Given the description of an element on the screen output the (x, y) to click on. 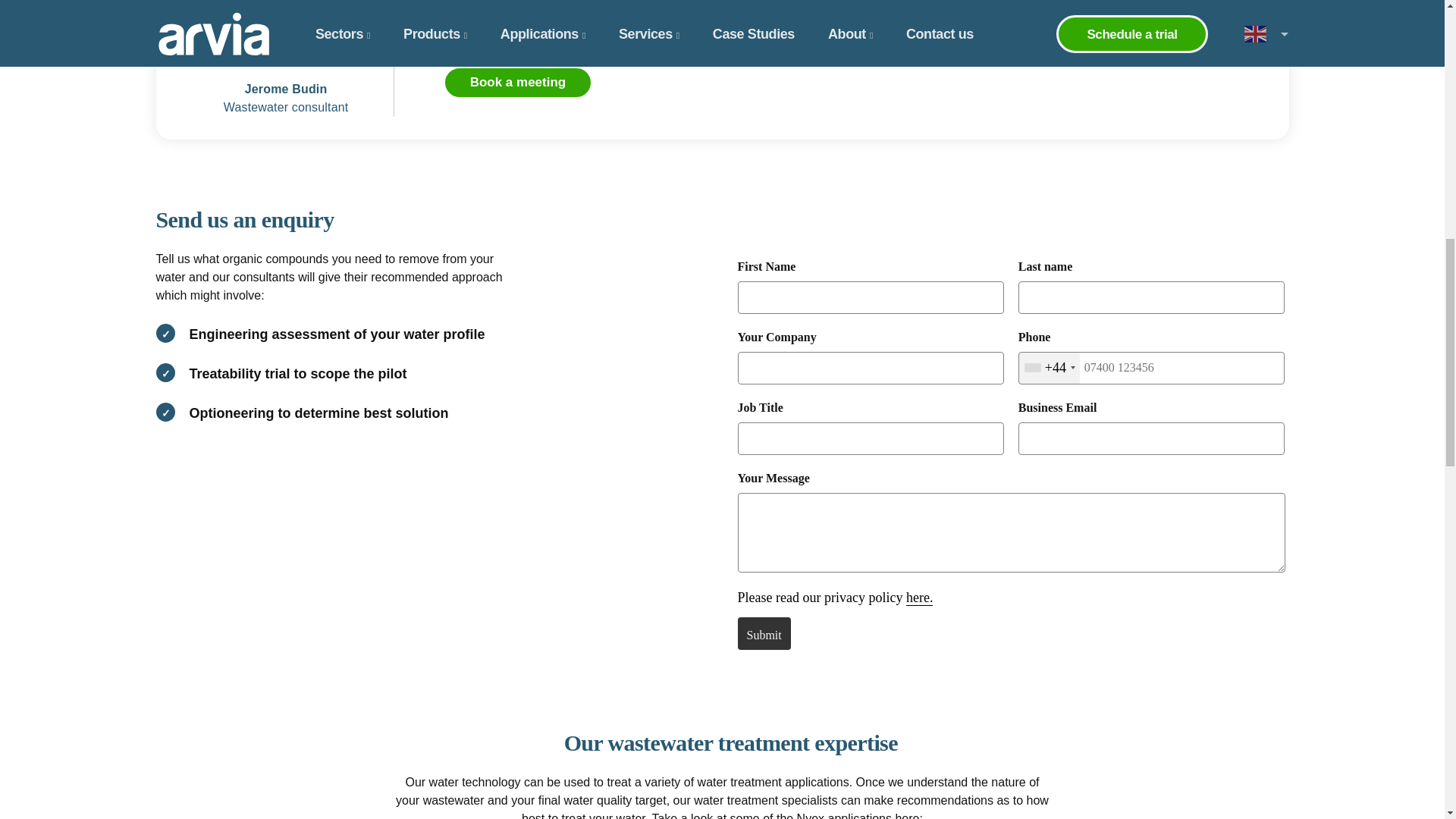
Submit (763, 633)
United Kingdom (1049, 368)
